Given the description of an element on the screen output the (x, y) to click on. 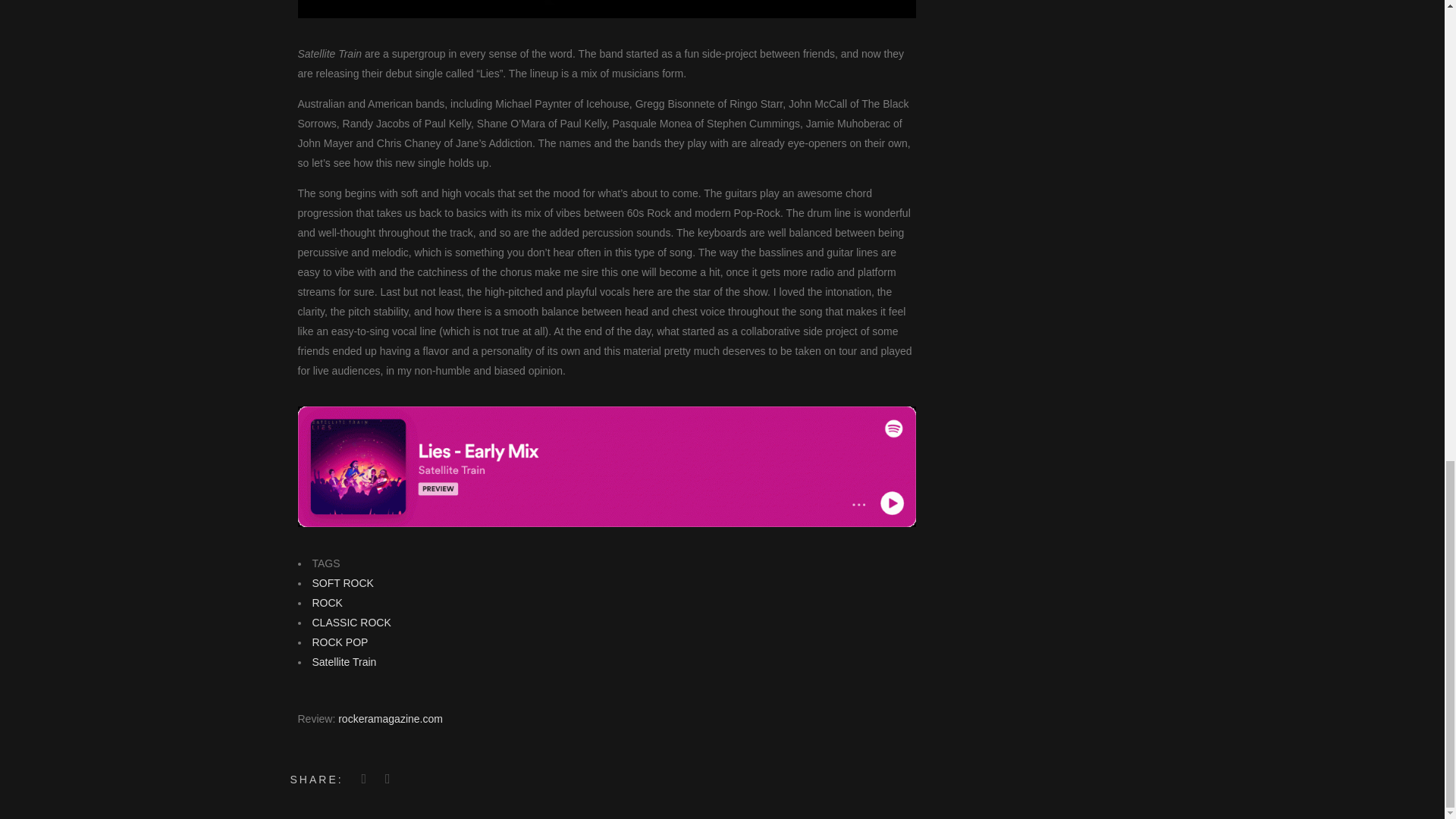
ROCK (327, 603)
CLASSIC ROCK (352, 622)
ROCK POP (340, 642)
SOFT ROCK (343, 582)
Satellite Train (345, 662)
rockeramagazine.com (389, 718)
